Given the description of an element on the screen output the (x, y) to click on. 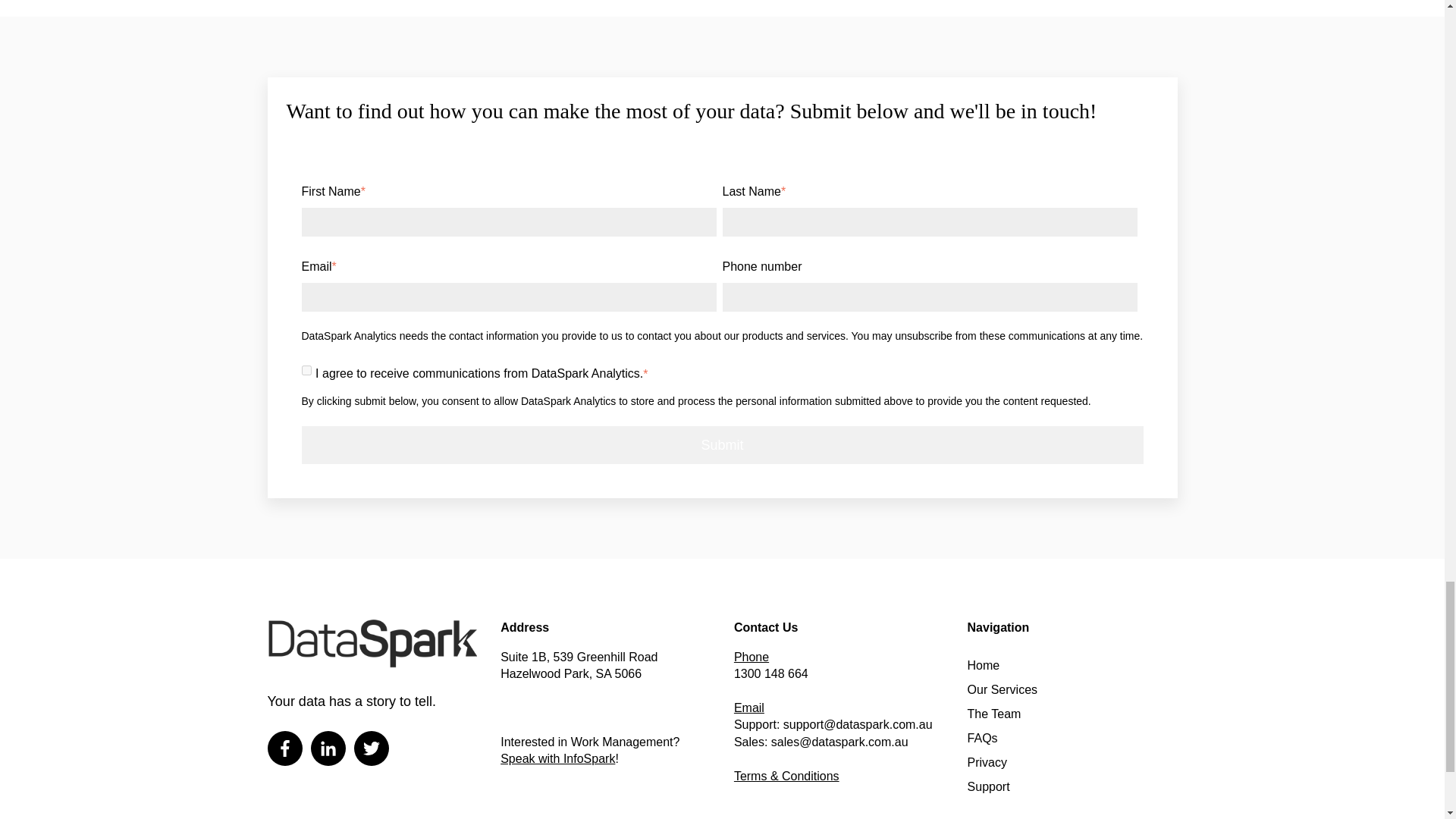
Speak with InfoSpark (557, 758)
Submit (721, 445)
Submit (721, 445)
true (306, 370)
